Given the description of an element on the screen output the (x, y) to click on. 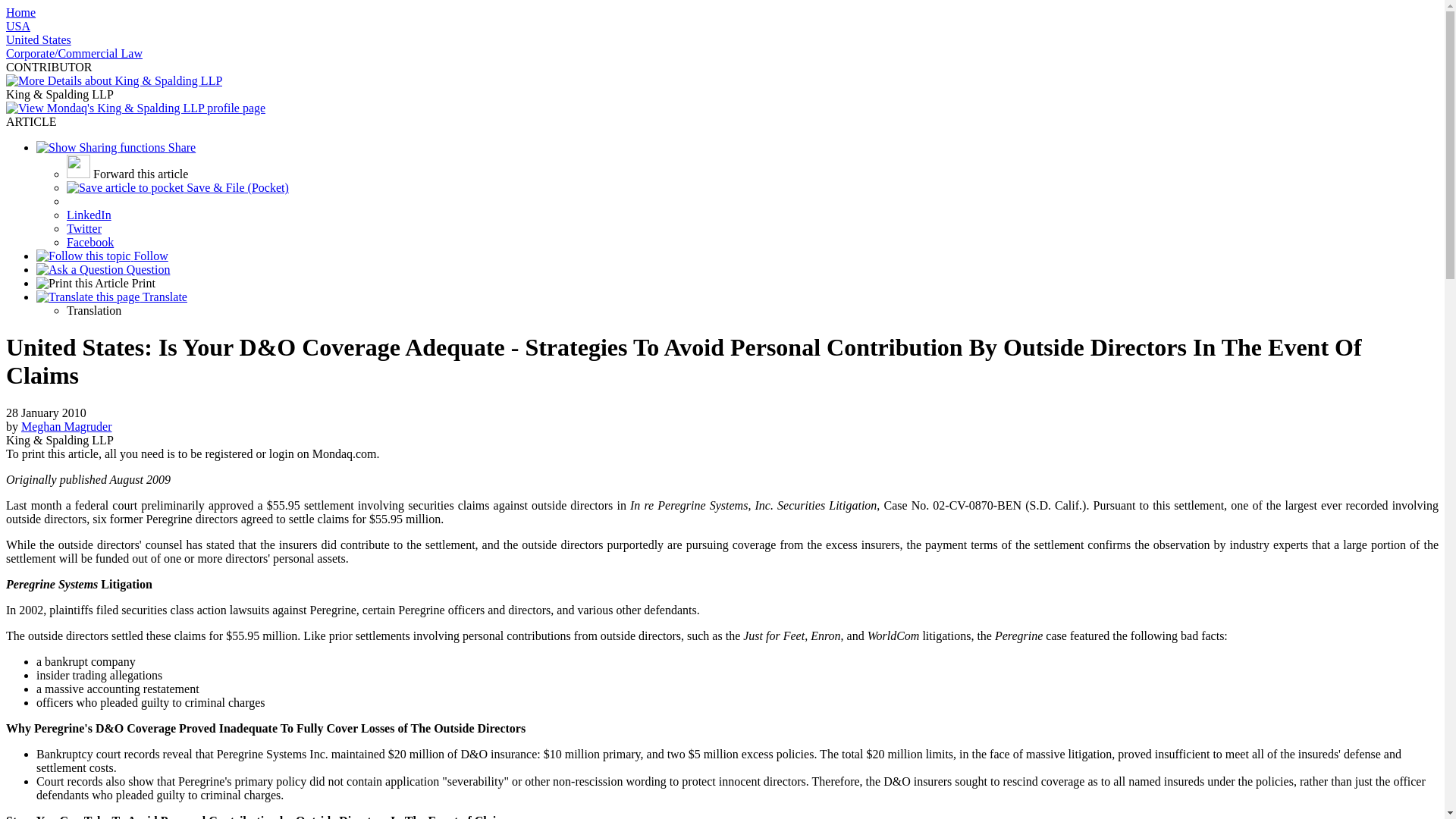
Home (19, 11)
Question (103, 269)
Print (95, 282)
USA (17, 25)
LinkedIn (89, 214)
Follow (102, 255)
United States (38, 39)
Twitter (83, 228)
Facebook (89, 241)
Translate (111, 296)
Meghan Magruder (66, 426)
Forward this article (126, 173)
Share (115, 146)
View this authors biography on their website (66, 426)
